Given the description of an element on the screen output the (x, y) to click on. 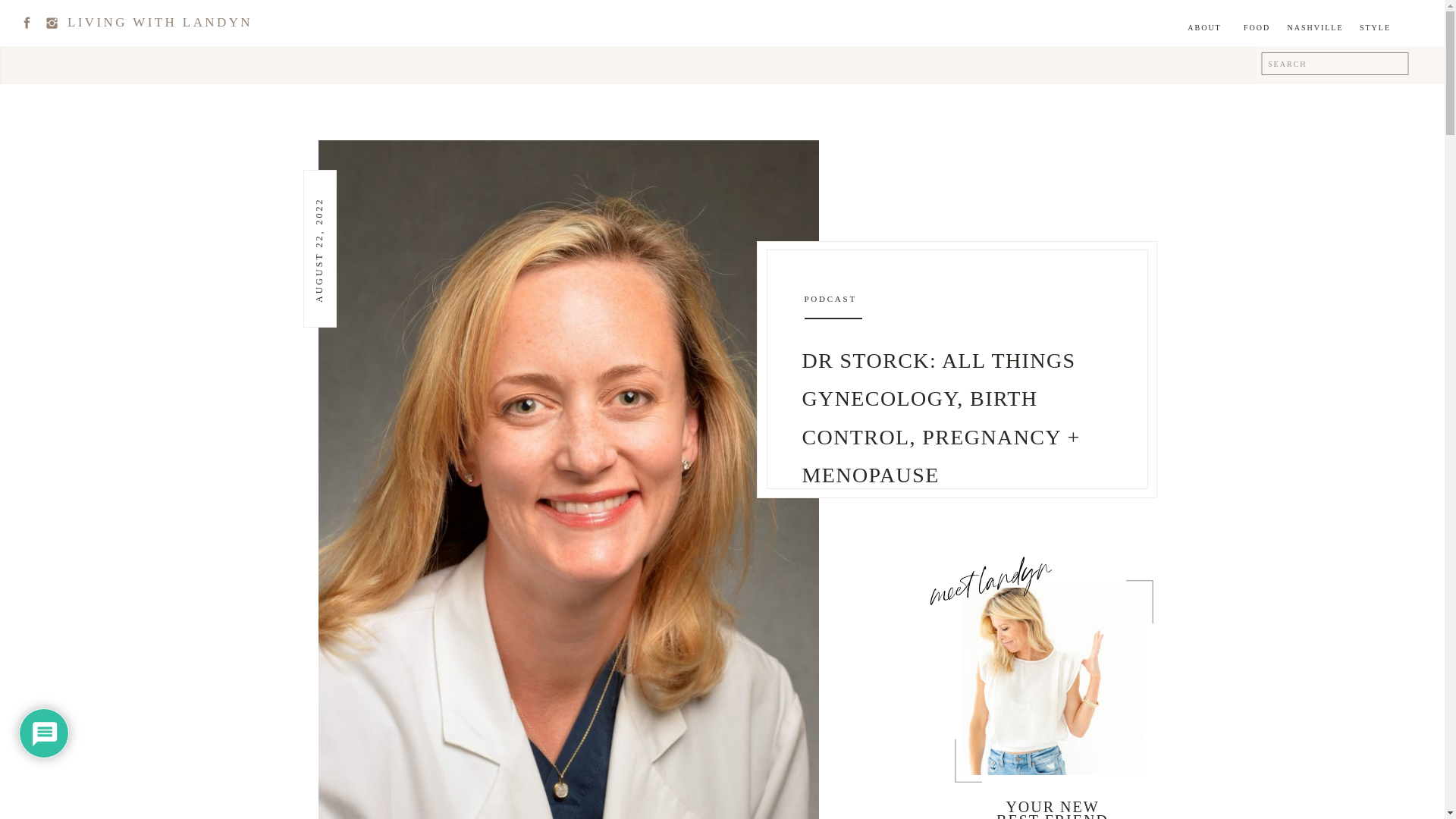
LIVING WITH LANDYN (160, 19)
ABOUT (1203, 29)
NASHVILLE (1315, 29)
FOOD (1256, 29)
YOUR NEW (1052, 802)
BEST FRIEND (1052, 812)
STYLE (1375, 29)
